Given the description of an element on the screen output the (x, y) to click on. 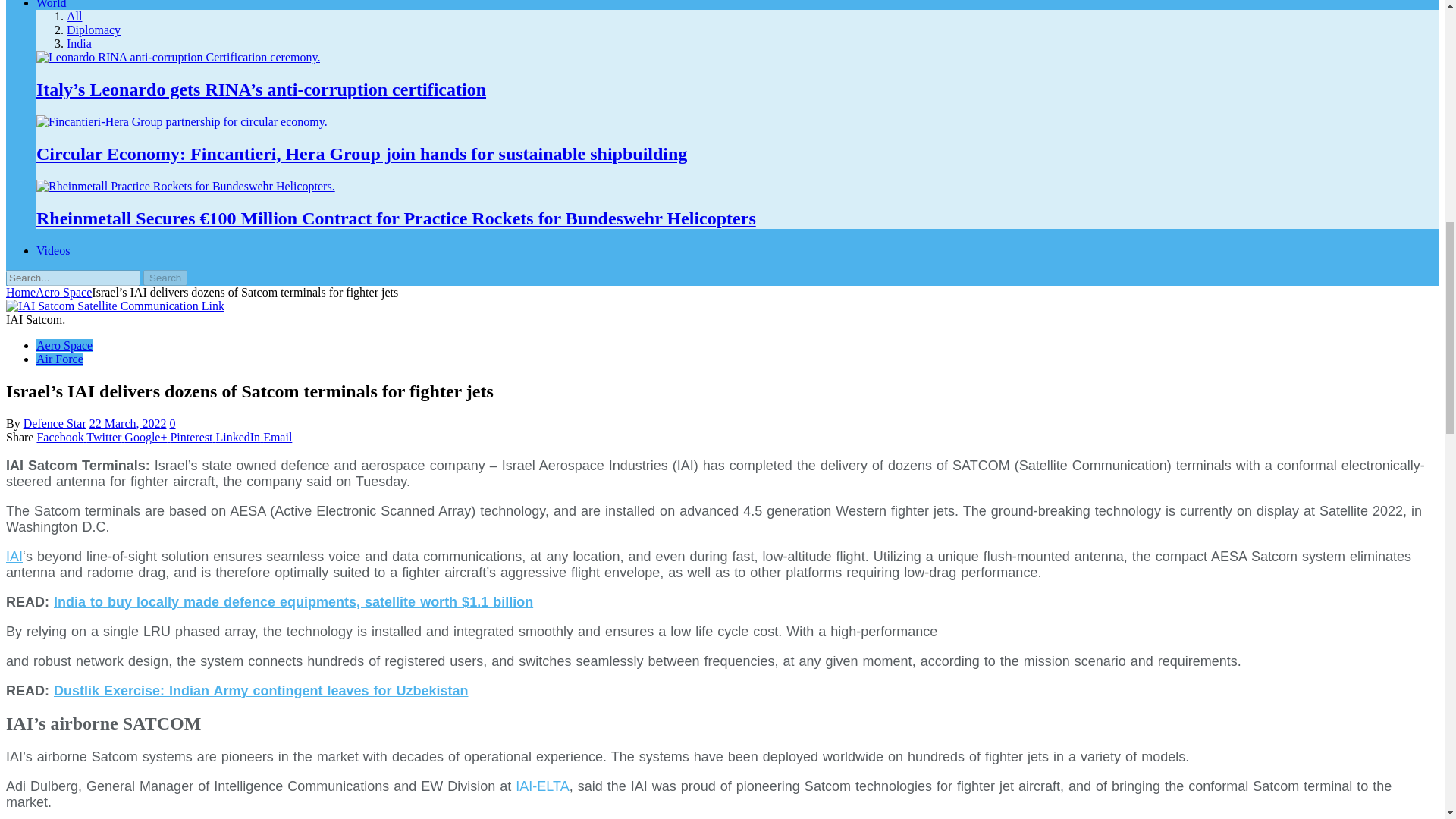
India (78, 42)
World (51, 4)
All (73, 15)
Diplomacy (93, 29)
